Given the description of an element on the screen output the (x, y) to click on. 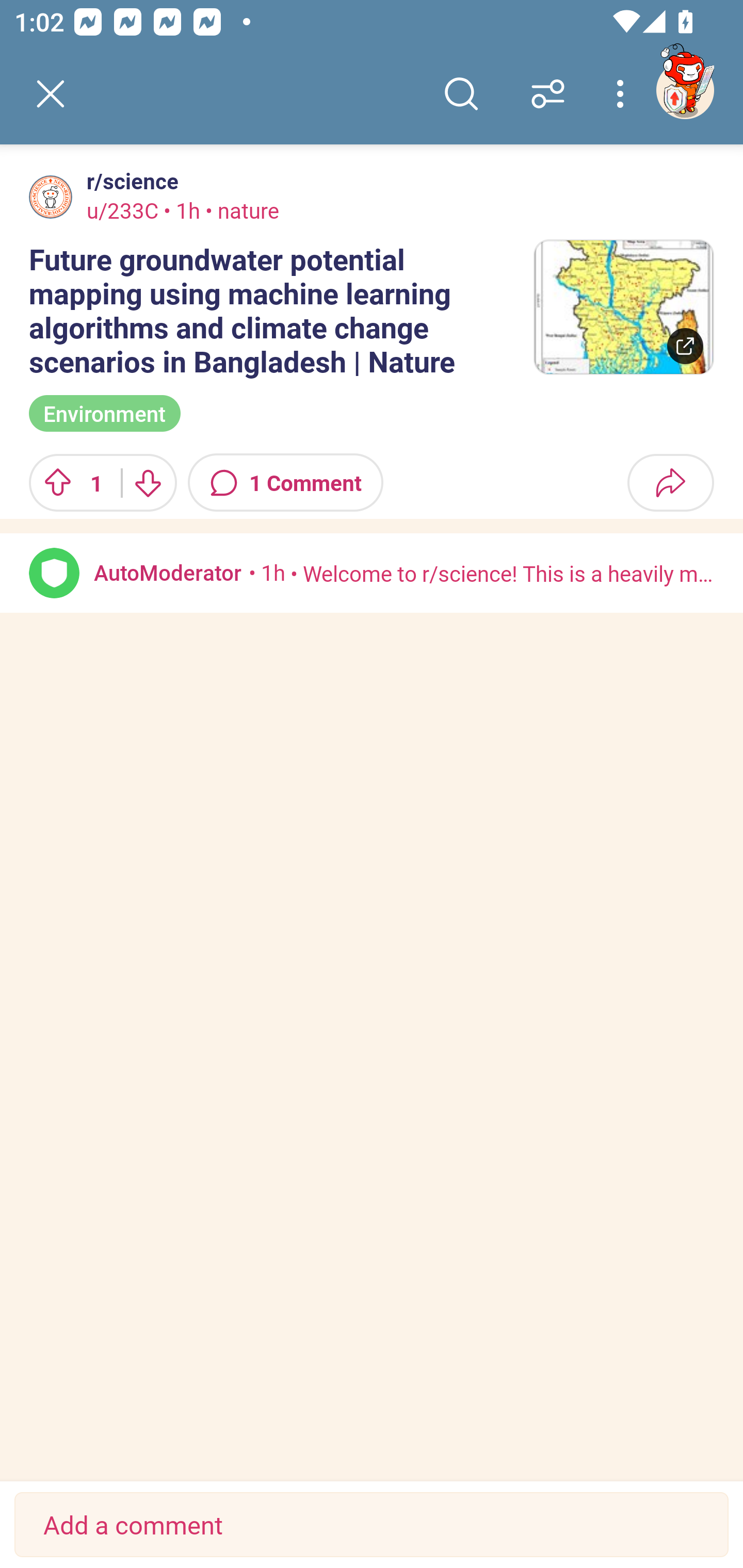
Back (50, 93)
TestAppium002 account (685, 90)
Search comments (460, 93)
Sort comments (547, 93)
More options (623, 93)
r/science (128, 181)
Avatar (50, 196)
u/233C (122, 210)
 • nature (239, 210)
Thumbnail image (623, 306)
Environment (104, 413)
Upvote 1 (67, 482)
Downvote (146, 482)
1 Comment (285, 482)
Share (670, 482)
Avatar (53, 572)
• 1h (266, 572)
Add a comment (371, 1524)
